Given the description of an element on the screen output the (x, y) to click on. 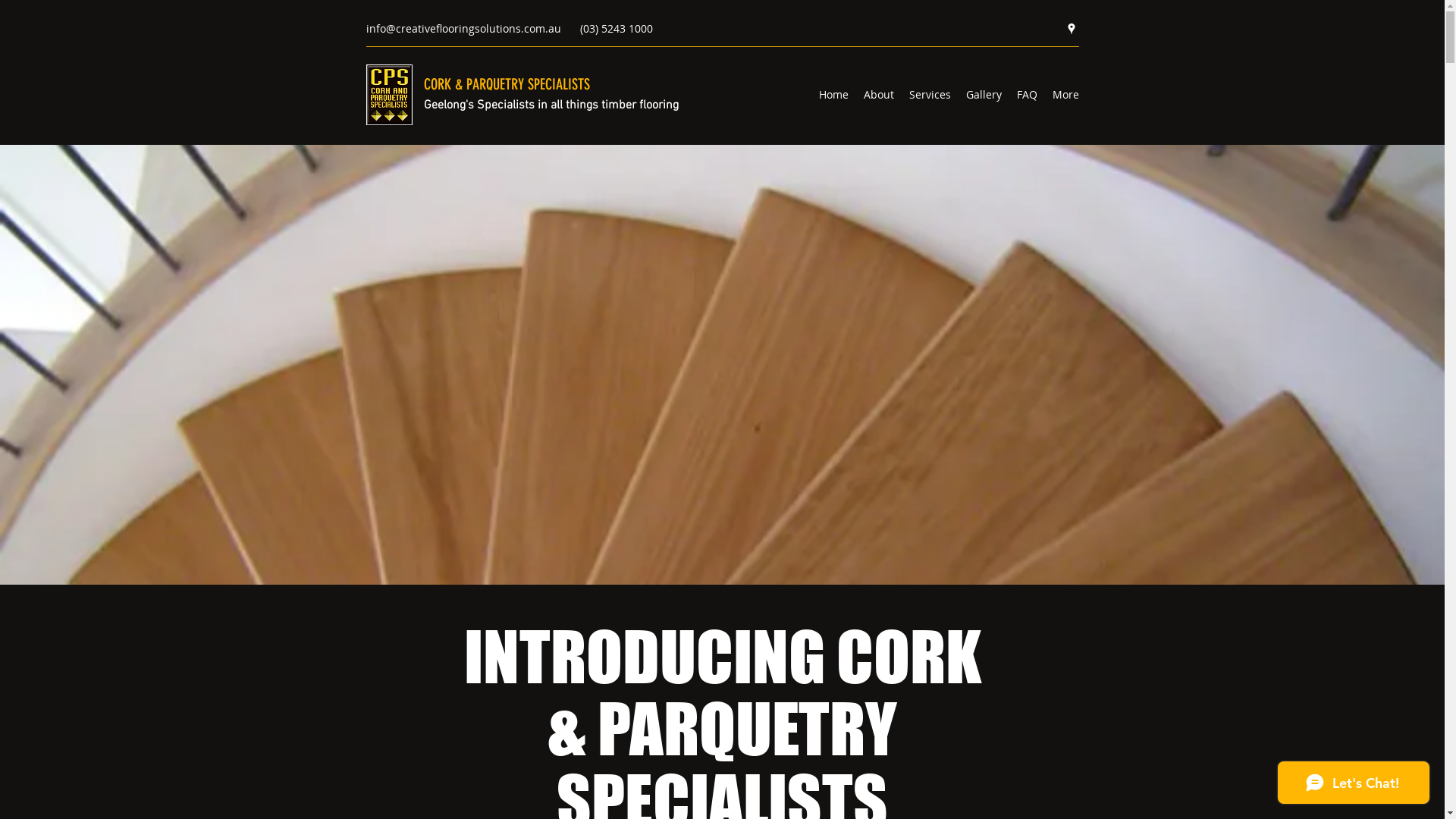
FAQ Element type: text (1026, 94)
Home Element type: text (833, 94)
About Element type: text (877, 94)
info@creativeflooringsolutions.com.au Element type: text (462, 28)
Gallery Element type: text (983, 94)
Services Element type: text (928, 94)
